Given the description of an element on the screen output the (x, y) to click on. 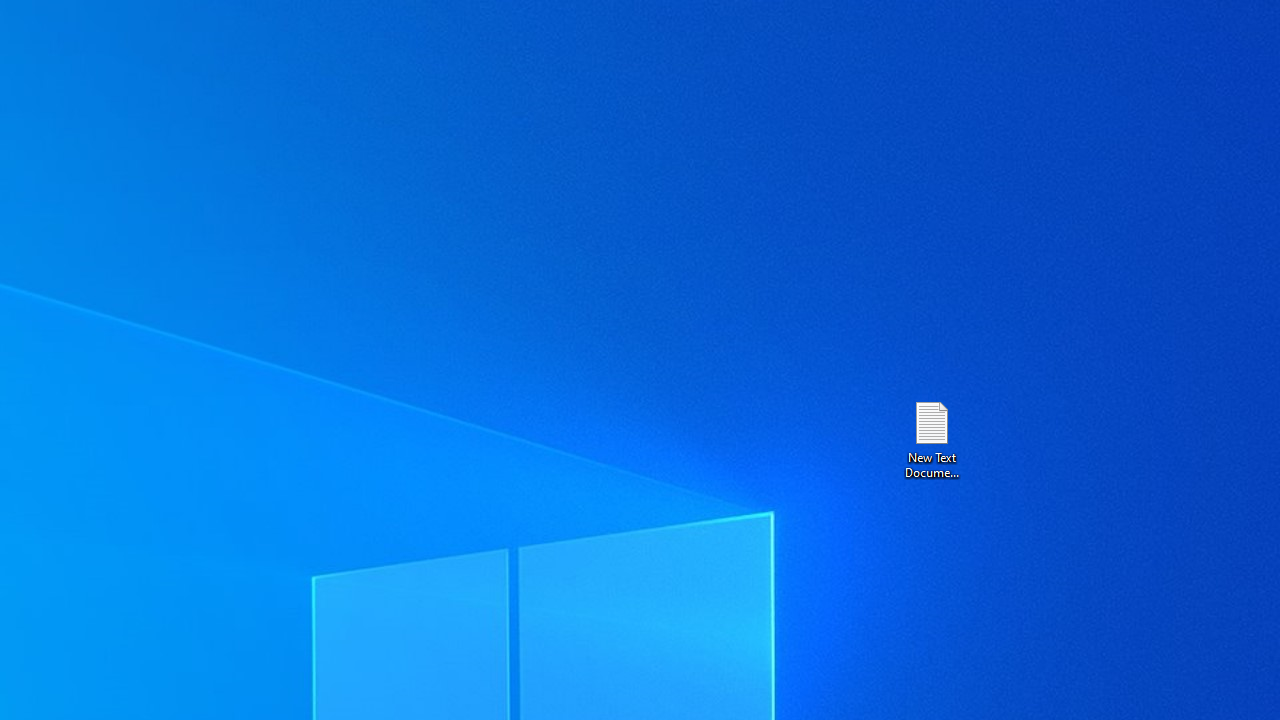
New Text Document (2) (931, 438)
